Given the description of an element on the screen output the (x, y) to click on. 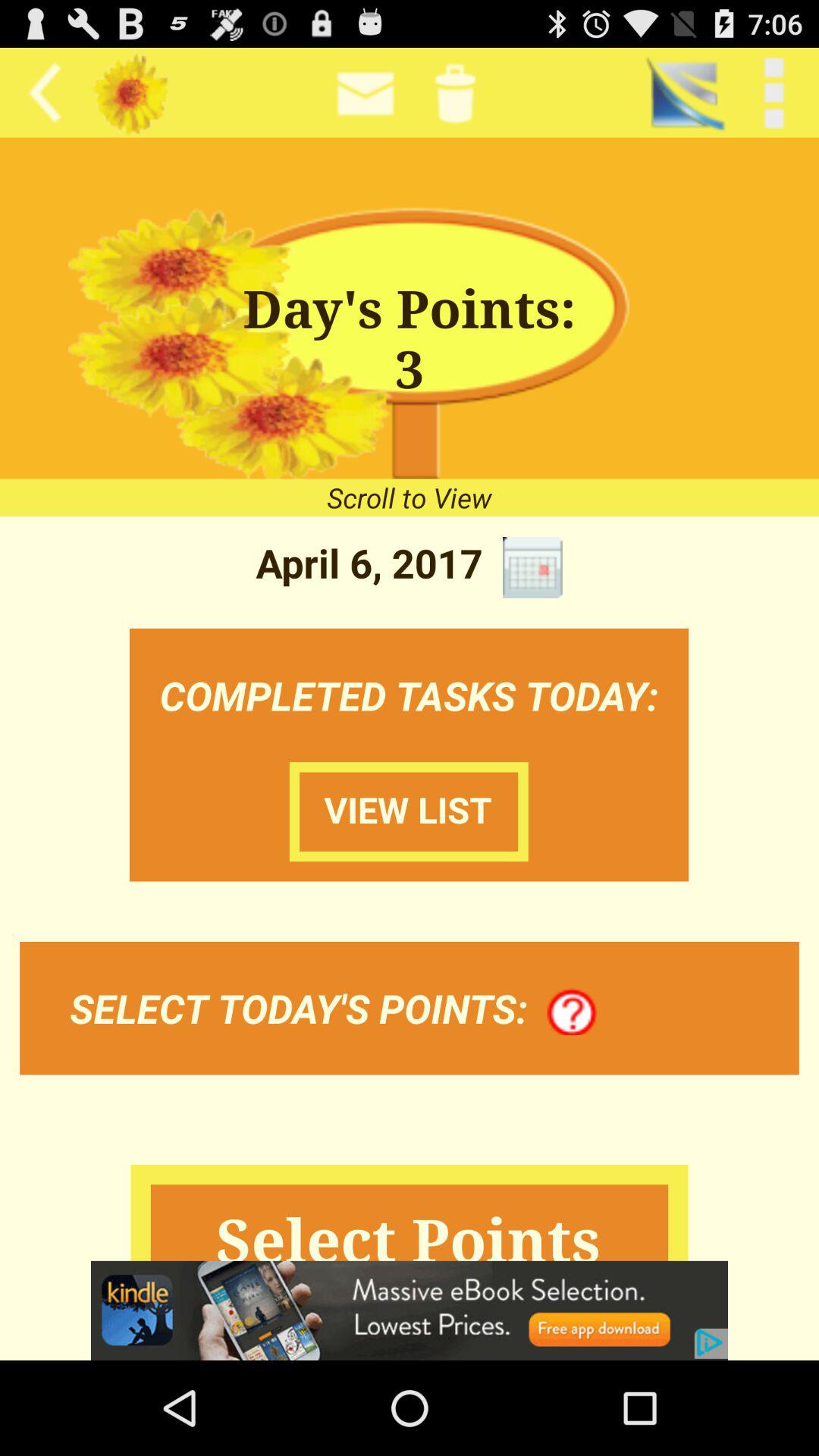
opens webpage of displayed advertisement (409, 1310)
